Given the description of an element on the screen output the (x, y) to click on. 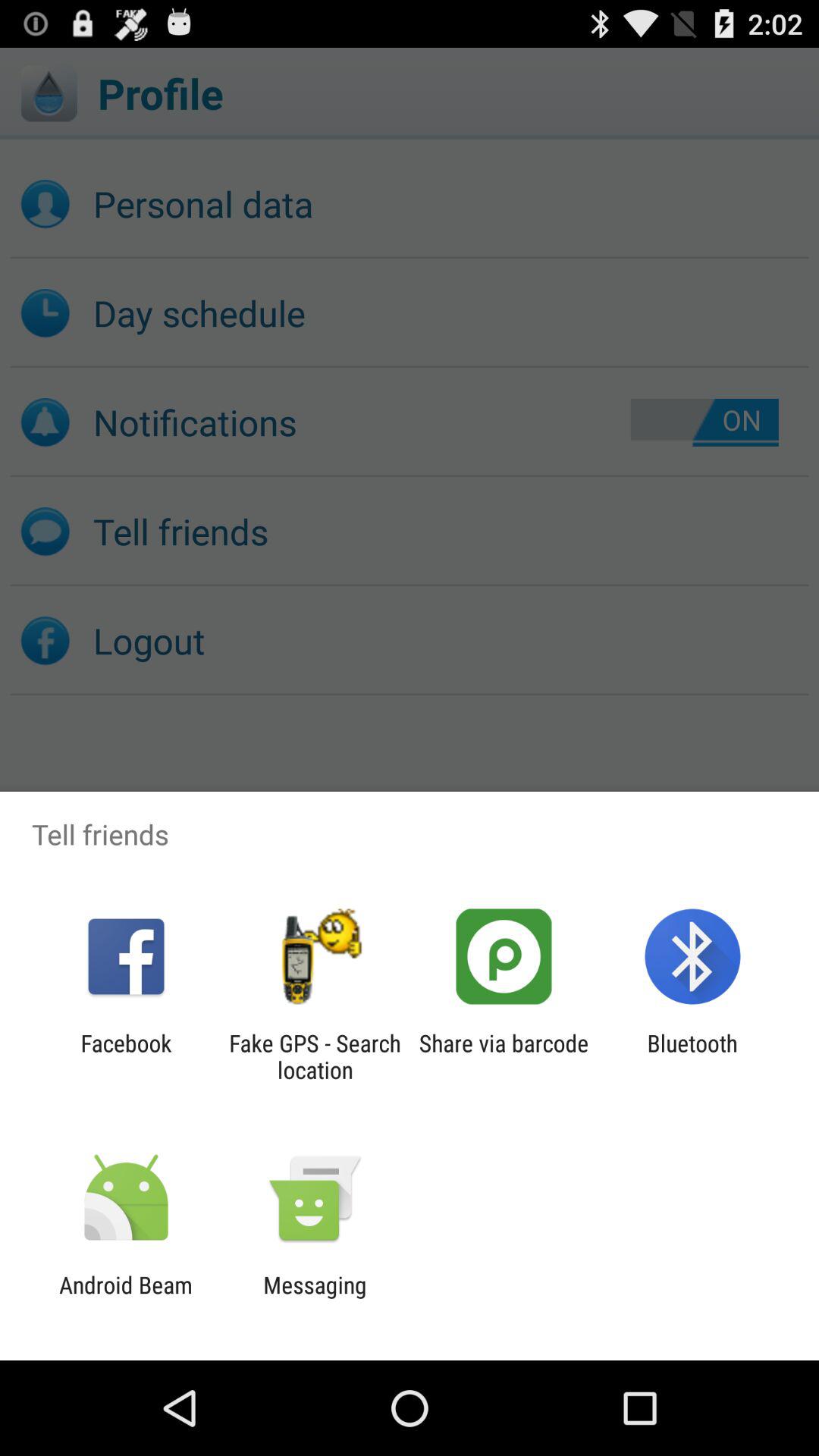
select the facebook item (125, 1056)
